Given the description of an element on the screen output the (x, y) to click on. 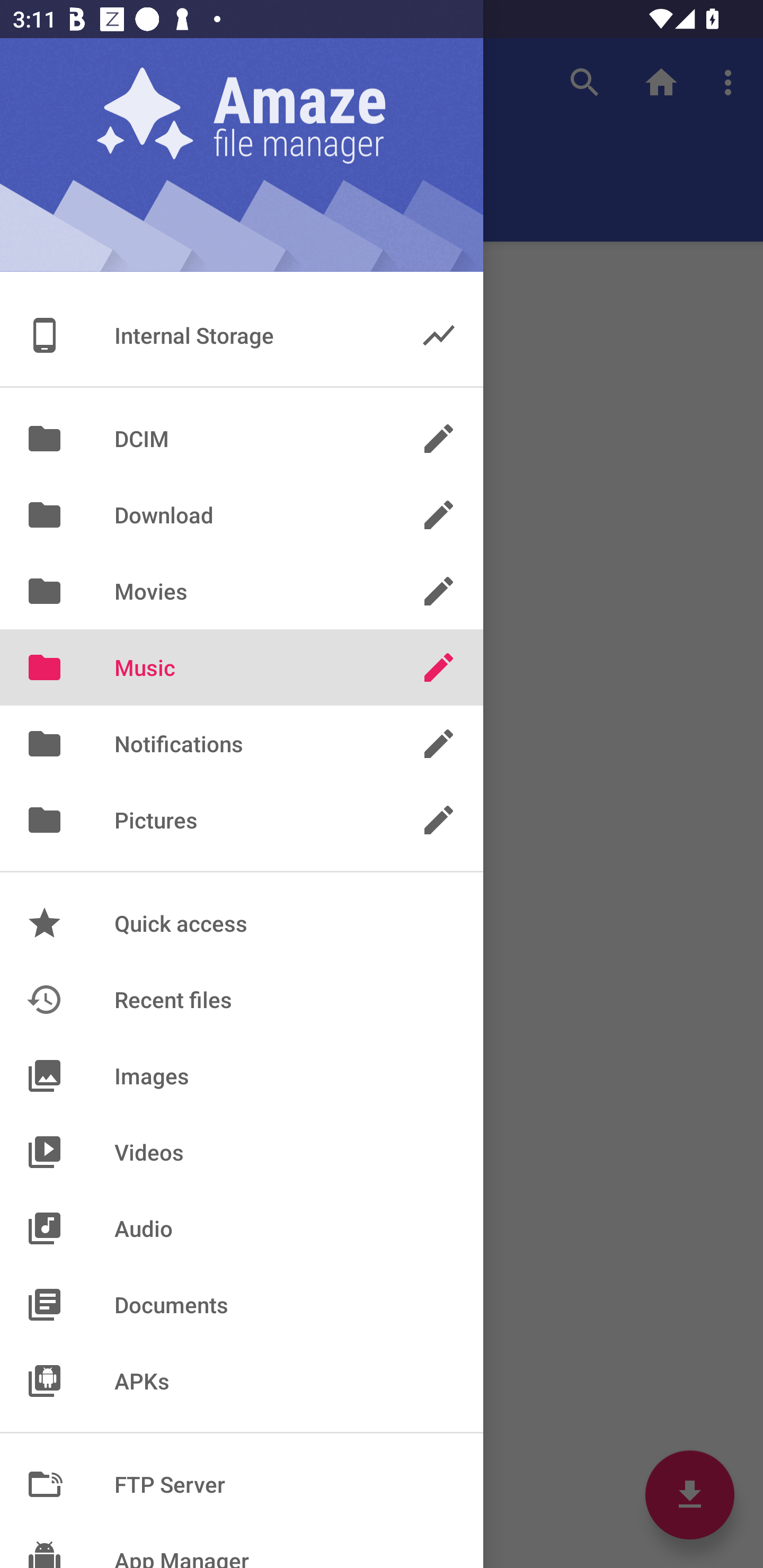
Search (585, 81)
Internal Storage (241, 335)
DCIM (241, 437)
Download (241, 514)
Movies (241, 590)
Music (241, 666)
Notifications (241, 743)
Pictures (241, 819)
Quick access (241, 923)
Recent files (241, 999)
Images (241, 1075)
Videos (241, 1151)
Audio (241, 1228)
Documents (241, 1304)
APKs (241, 1380)
FTP Server (241, 1483)
App Manager (241, 1545)
